Given the description of an element on the screen output the (x, y) to click on. 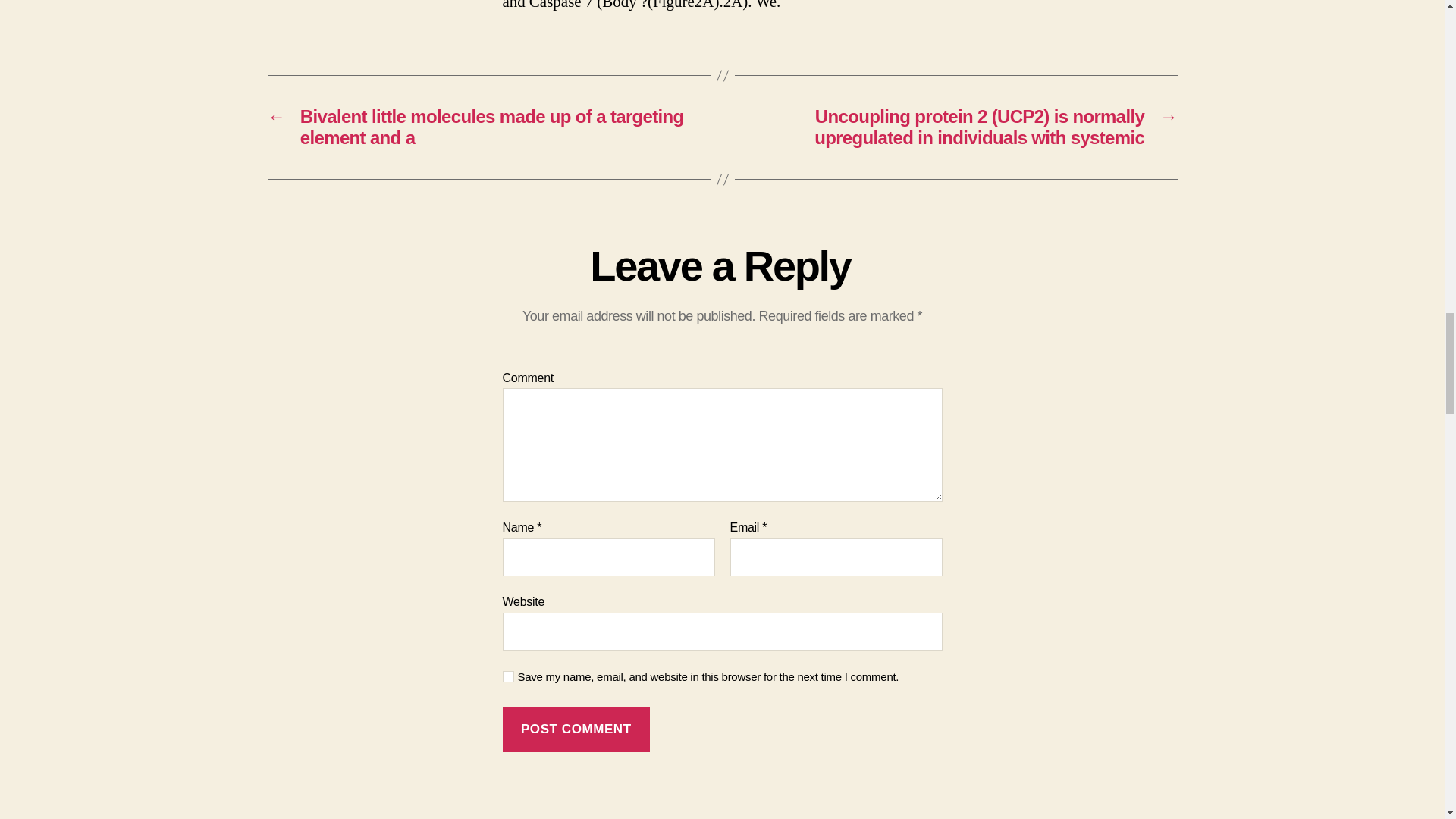
yes (507, 676)
Post Comment (575, 728)
Post Comment (575, 728)
